Given the description of an element on the screen output the (x, y) to click on. 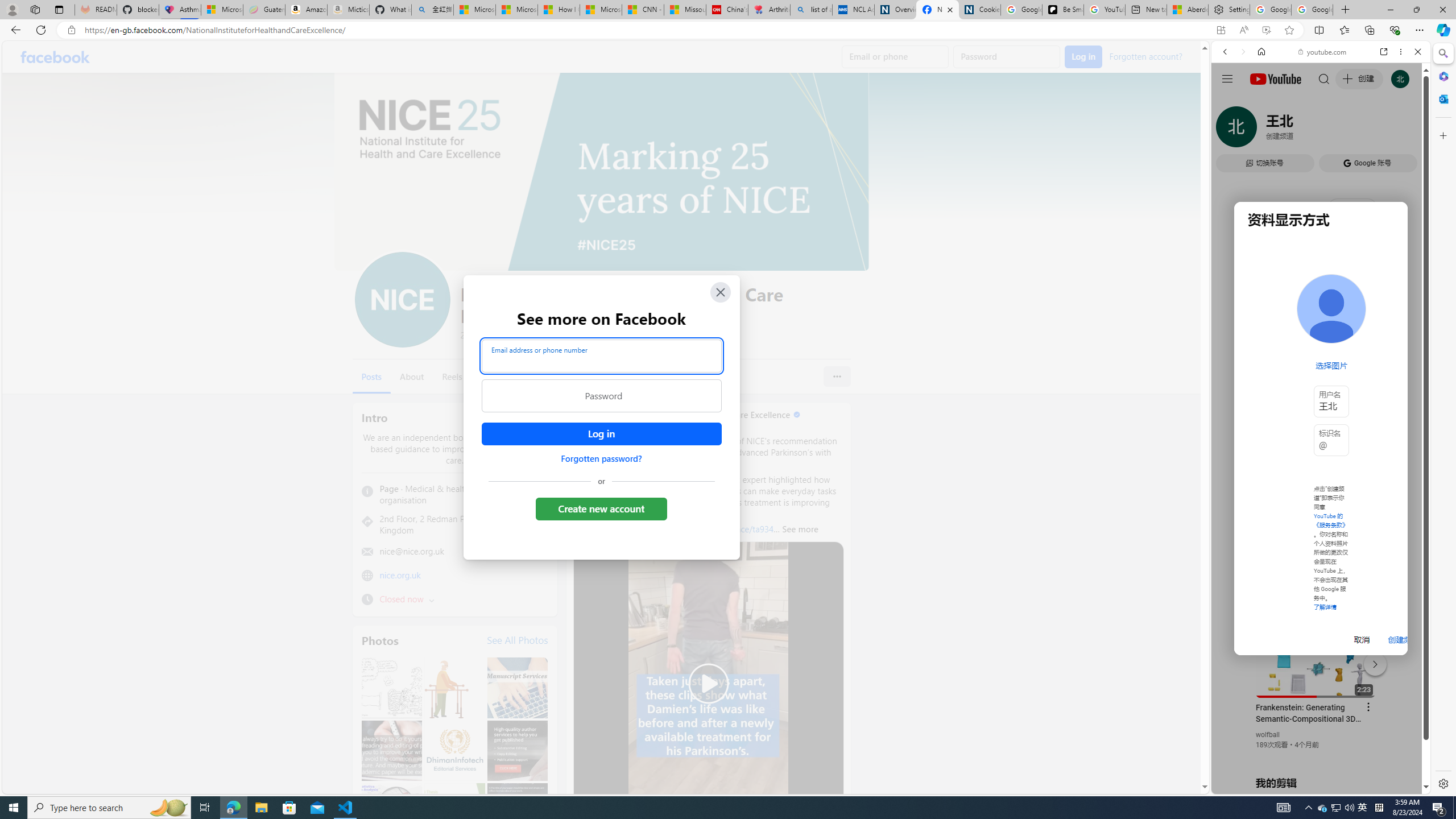
WEB   (1230, 130)
SEARCH TOOLS (1350, 130)
Forgotten account? (1145, 55)
YouTube - YouTube (1315, 560)
Preferences (1403, 129)
Trailer #2 [HD] (1320, 337)
Search Filter, VIDEOS (1300, 129)
App available. Install Facebook (1220, 29)
